Given the description of an element on the screen output the (x, y) to click on. 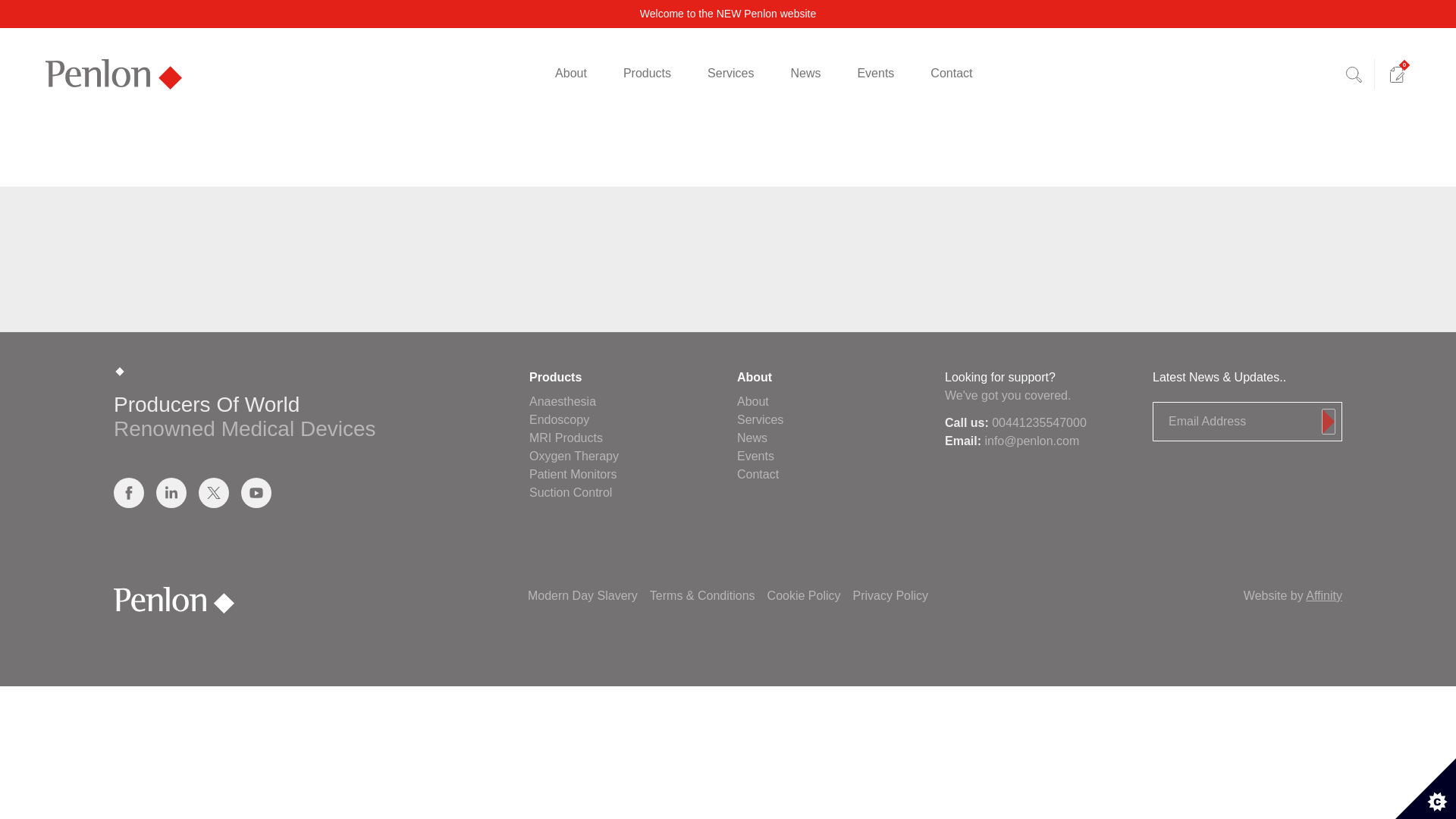
Anaesthesia (562, 400)
Patient Monitors (573, 473)
Welcome to the NEW Penlon website (727, 13)
MRI Products (565, 437)
News (727, 13)
About (752, 400)
News (751, 437)
Events (755, 455)
Oxygen Therapy (573, 455)
Endoscopy (559, 419)
Suction Control (570, 492)
Services (759, 419)
